Given the description of an element on the screen output the (x, y) to click on. 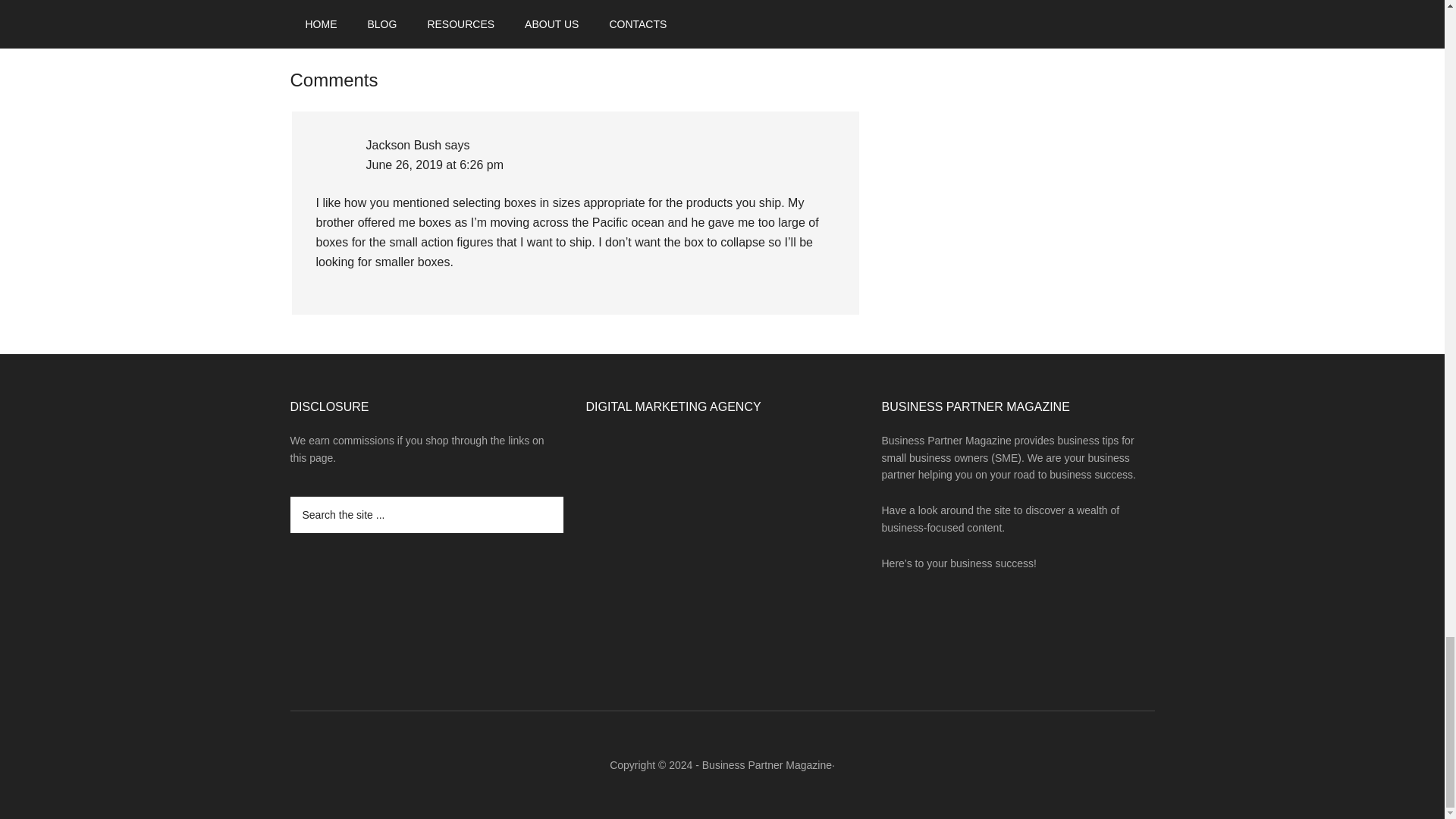
Shipping (430, 1)
June 26, 2019 at 6:26 pm (433, 164)
packaging (379, 1)
Transporting goods (502, 1)
